Given the description of an element on the screen output the (x, y) to click on. 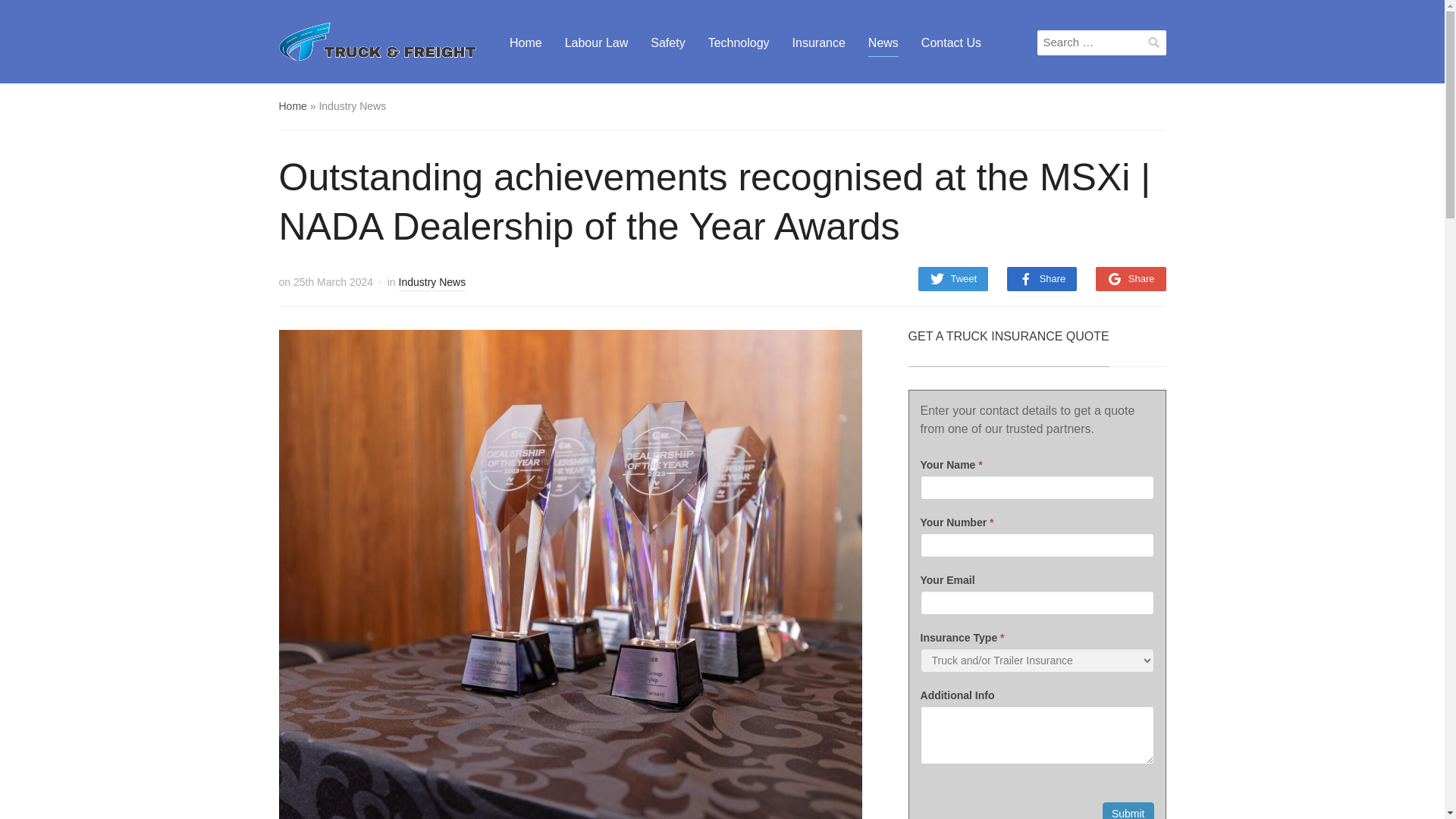
Tweet (952, 278)
News (882, 43)
Safety (667, 43)
Share (1131, 278)
Home (293, 105)
Search (1154, 42)
Submit (1128, 810)
Search (1154, 42)
Contact Us (951, 43)
Home (525, 43)
Industry News (431, 283)
Labour Law (596, 43)
Tweet this on Twitter (952, 278)
Submit (1128, 810)
